Given the description of an element on the screen output the (x, y) to click on. 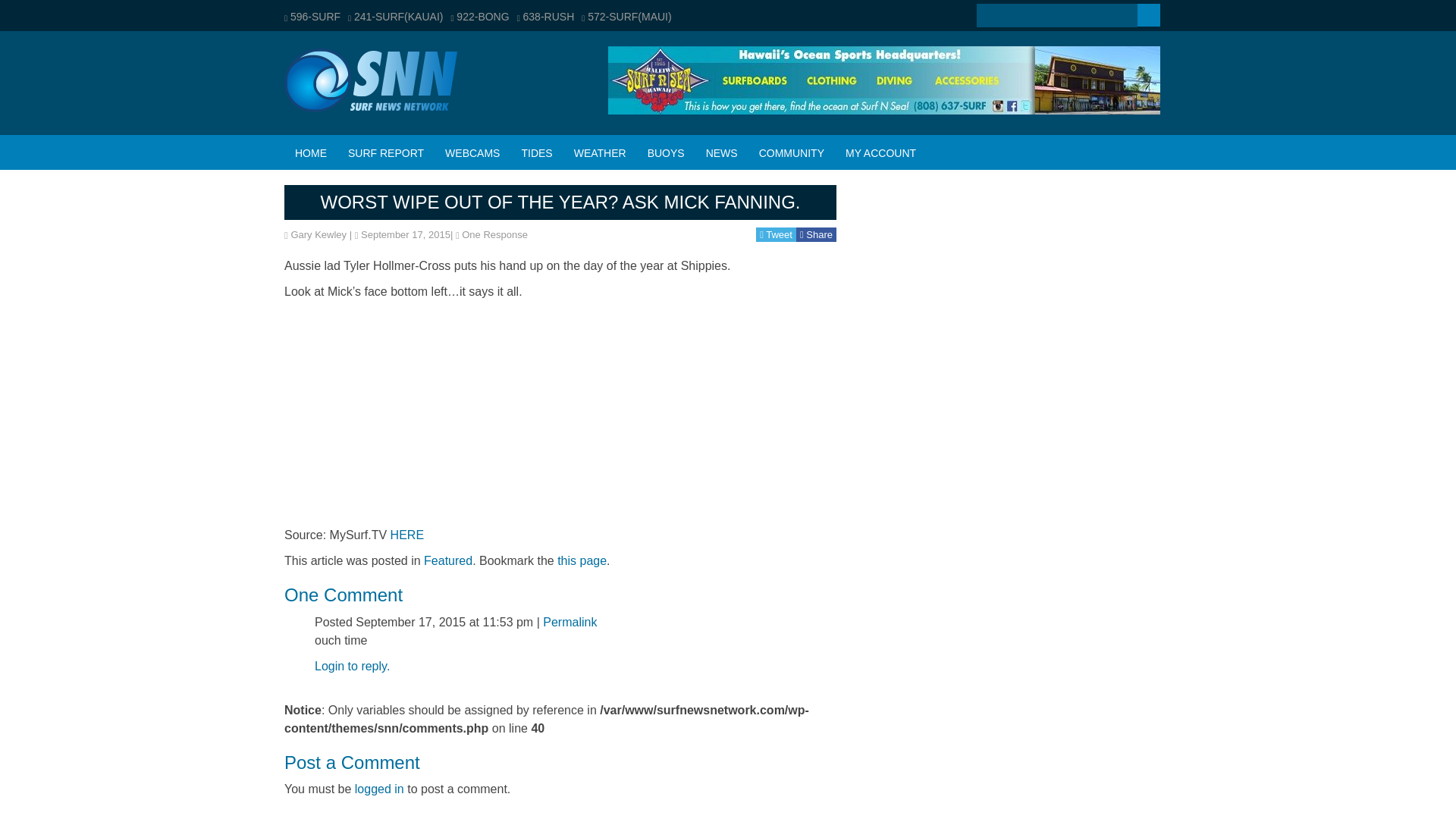
HOME (310, 153)
View all articles by Gary Kewley (317, 234)
SURF REPORT (385, 153)
Permalink to Worst wipe out of the year? Ask Mick Fanning. (582, 560)
922-BONG (478, 16)
Permalink to this comment (569, 621)
596-SURF (311, 16)
638-RUSH (545, 16)
Read Worst wipe out of the year? Ask Mick Fanning. (559, 200)
